Given the description of an element on the screen output the (x, y) to click on. 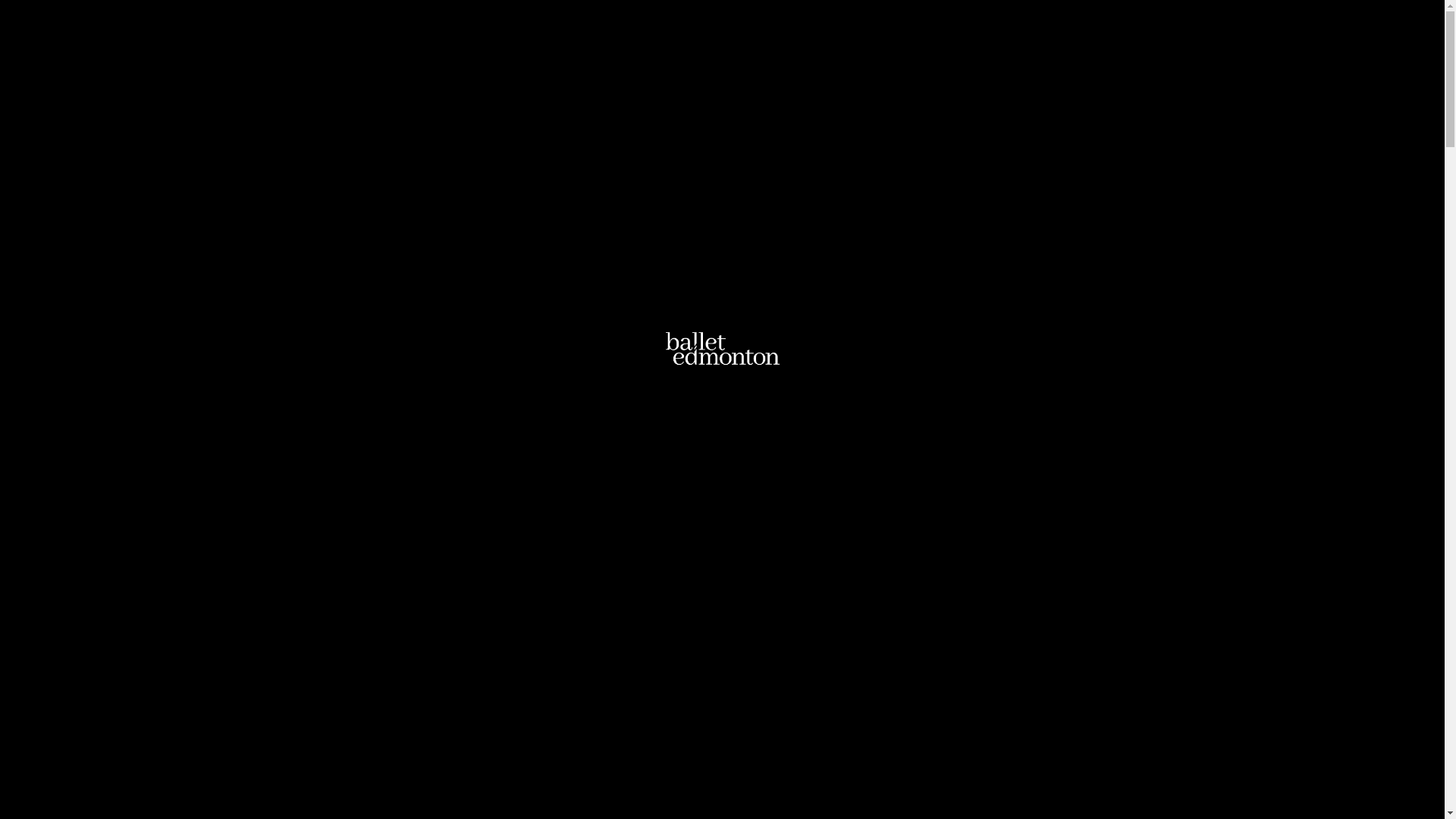
Ballet Edmonton Element type: text (369, 37)
about Element type: text (834, 51)
Tour Years ^ Element type: text (1034, 313)
tickets Element type: text (671, 51)
support Element type: text (894, 51)
art connects Element type: text (975, 51)
adult barre fit Element type: text (1078, 51)
performances Element type: text (754, 51)
BUY TICKETS Element type: text (396, 780)
